Given the description of an element on the screen output the (x, y) to click on. 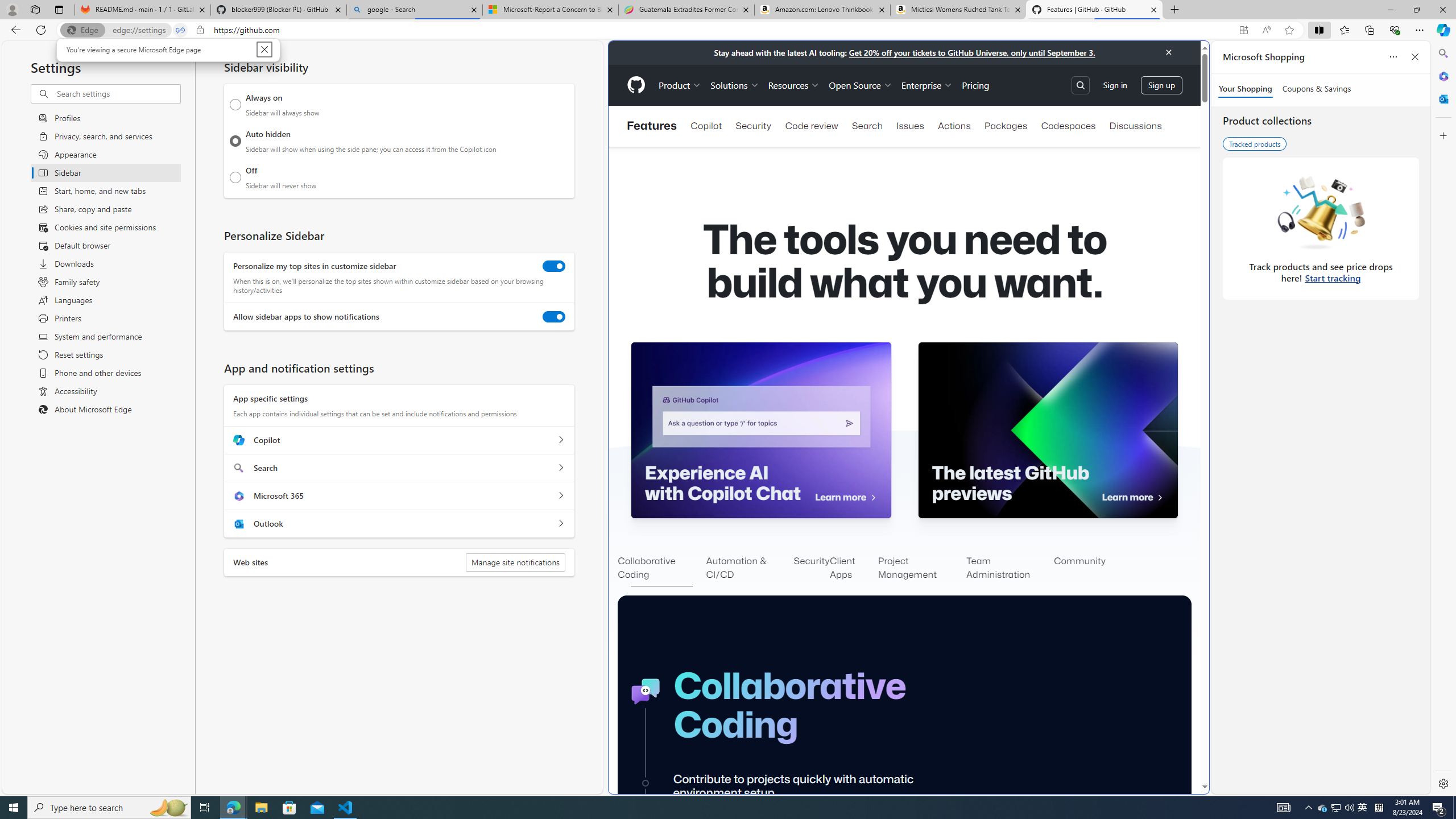
App available. Install  (1243, 29)
Pricing (975, 84)
Security (811, 568)
Action Center, 2 new notifications (1439, 807)
Sign up (1161, 84)
Resources (793, 84)
Visual Studio Code - 1 running window (345, 807)
Codespaces (1068, 125)
Microsoft Store (289, 807)
Side bar (1443, 418)
